Given the description of an element on the screen output the (x, y) to click on. 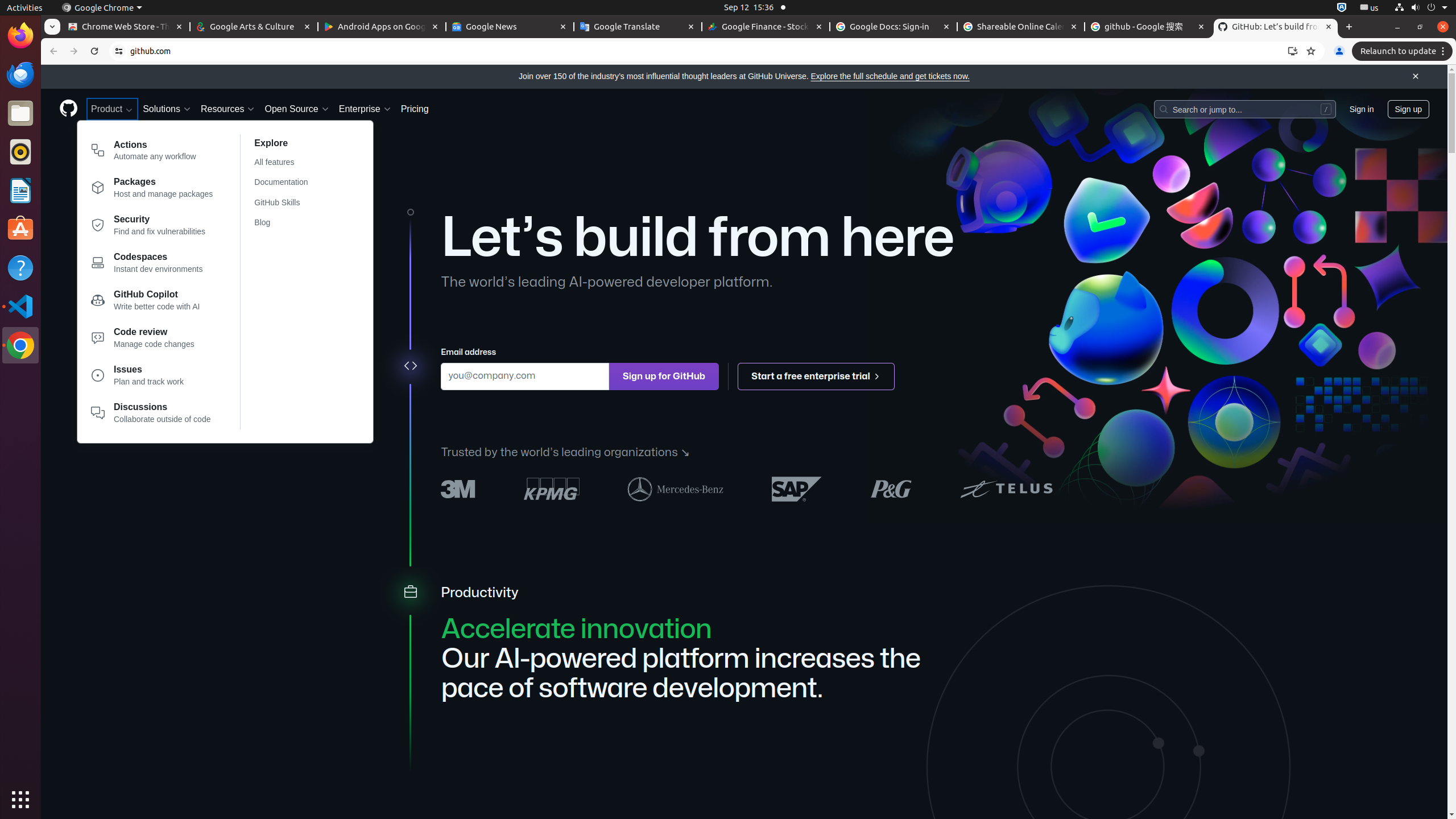
Resources Element type: push-button (227, 108)
Discussions Collaborate outside of code Element type: link (152, 412)
Reload Element type: push-button (94, 50)
